Given the description of an element on the screen output the (x, y) to click on. 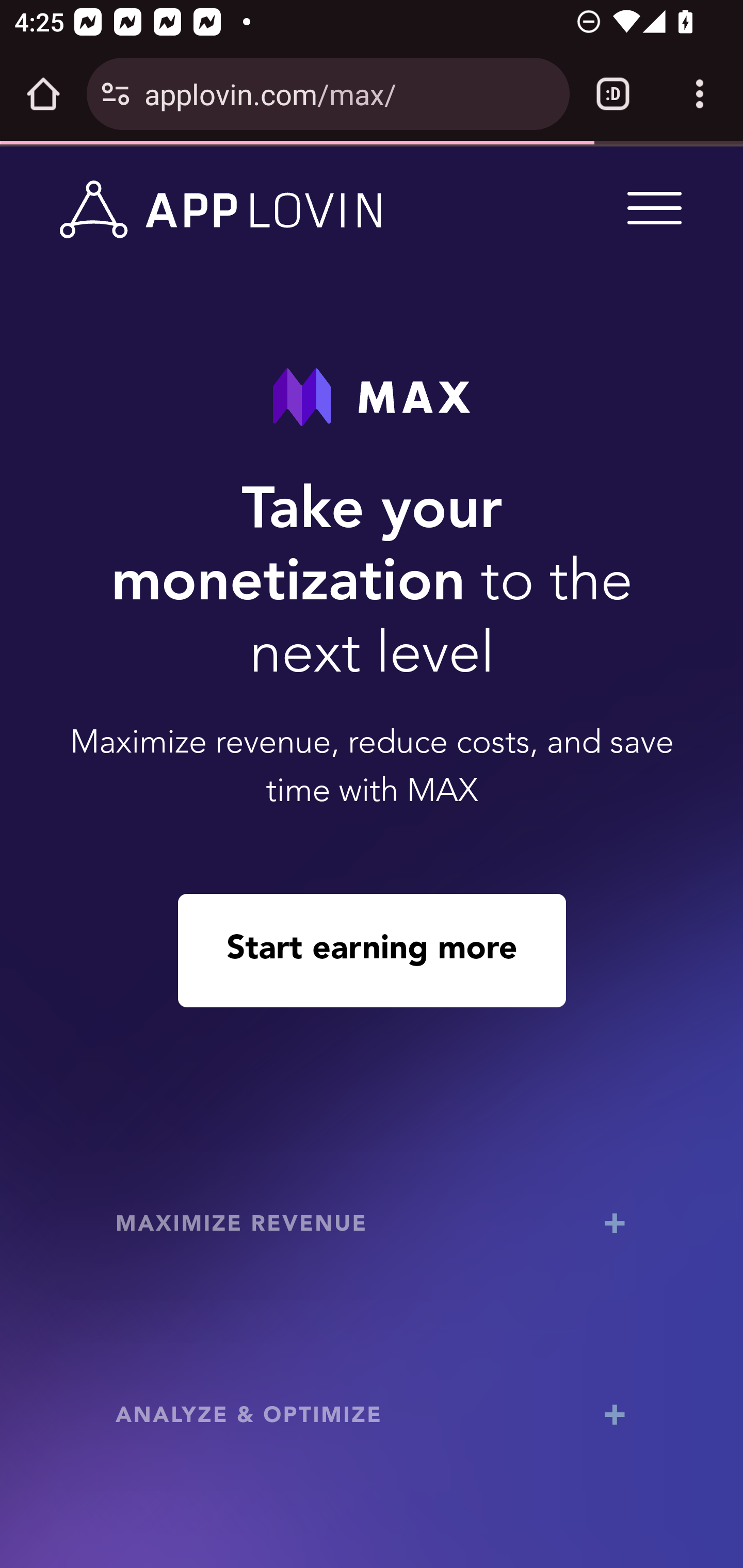
Open the home page (43, 93)
Connection is secure (115, 93)
Switch or close tabs (612, 93)
Customize and control Google Chrome (699, 93)
applovin.com/max/ (349, 92)
Menu Trigger (650, 207)
www.applovin (220, 209)
Start earning more (371, 950)
